Given the description of an element on the screen output the (x, y) to click on. 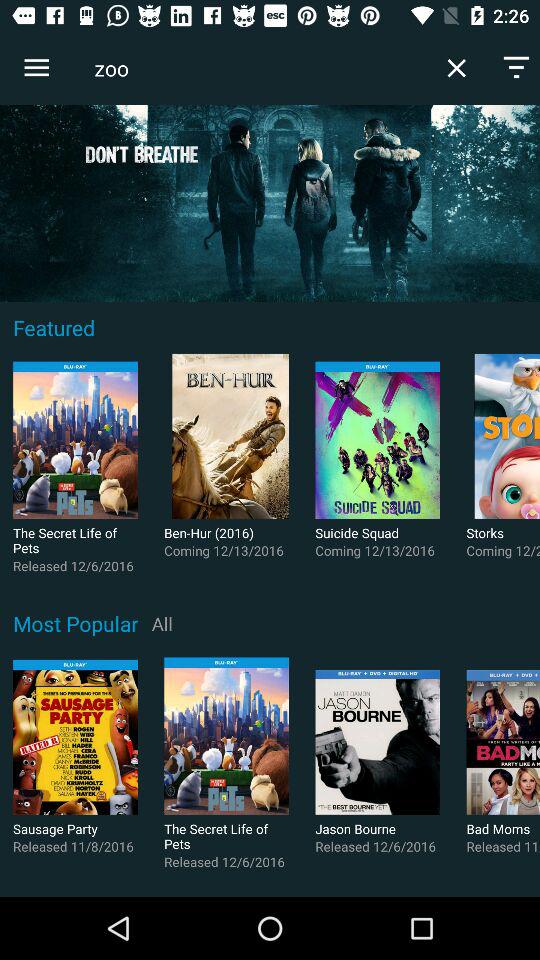
choose icon at the top left corner (36, 68)
